Given the description of an element on the screen output the (x, y) to click on. 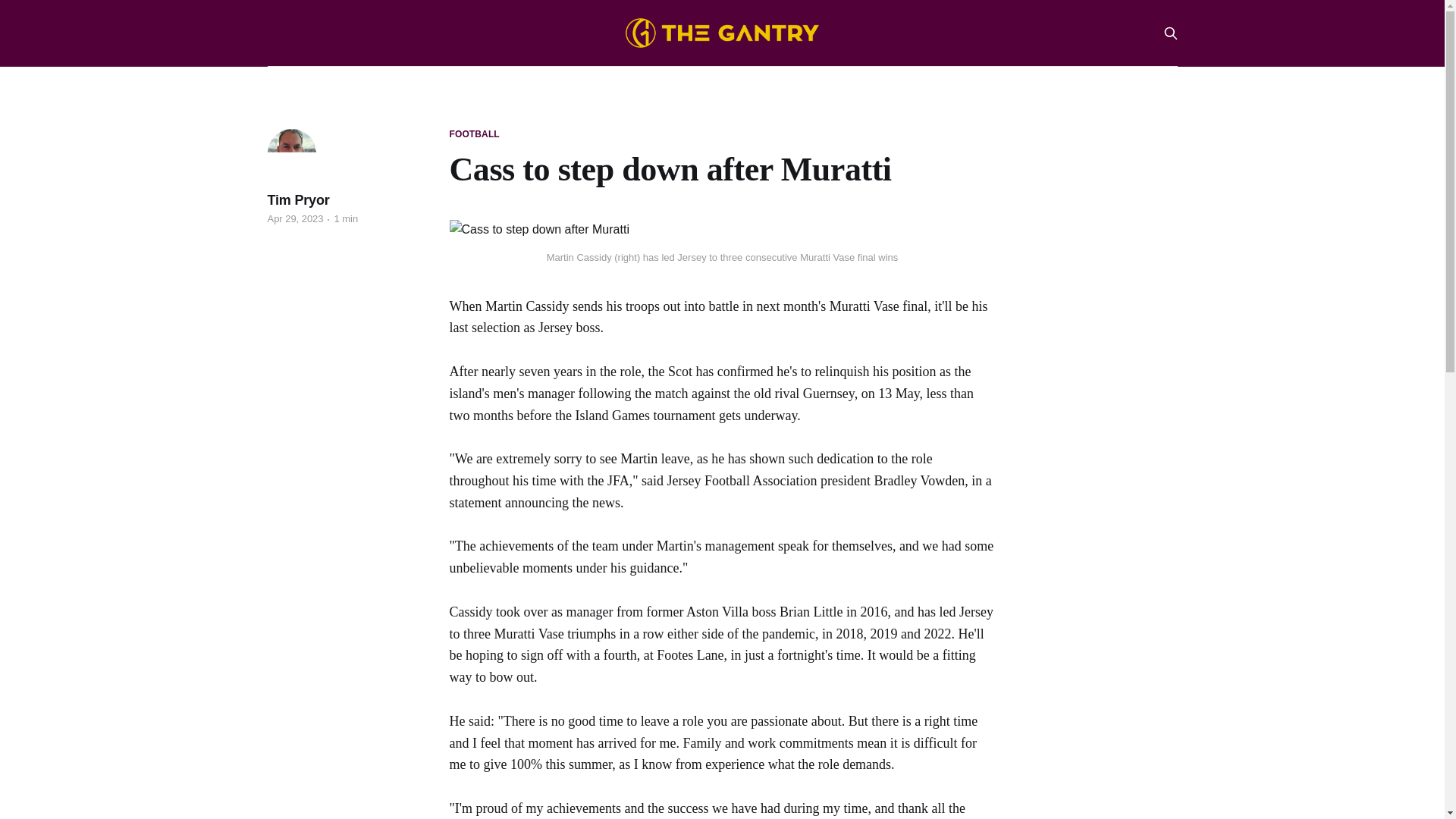
Tim Pryor (297, 199)
FOOTBALL (473, 134)
